Given the description of an element on the screen output the (x, y) to click on. 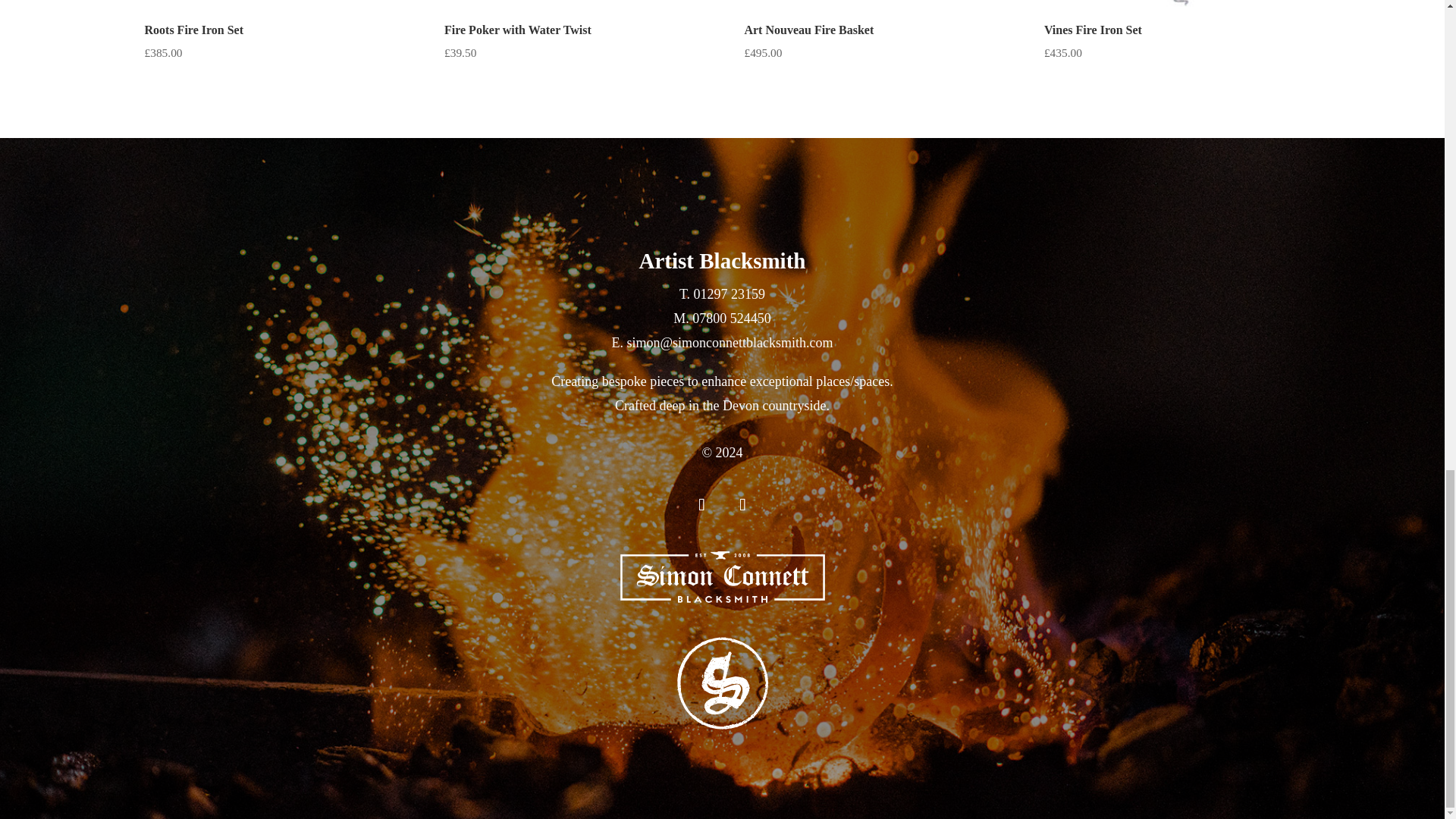
Follow on X (701, 504)
Simon Connett Artist Blacksmith (722, 576)
Follow on Instagram (742, 504)
simon-connett-touch-mark (721, 683)
